Given the description of an element on the screen output the (x, y) to click on. 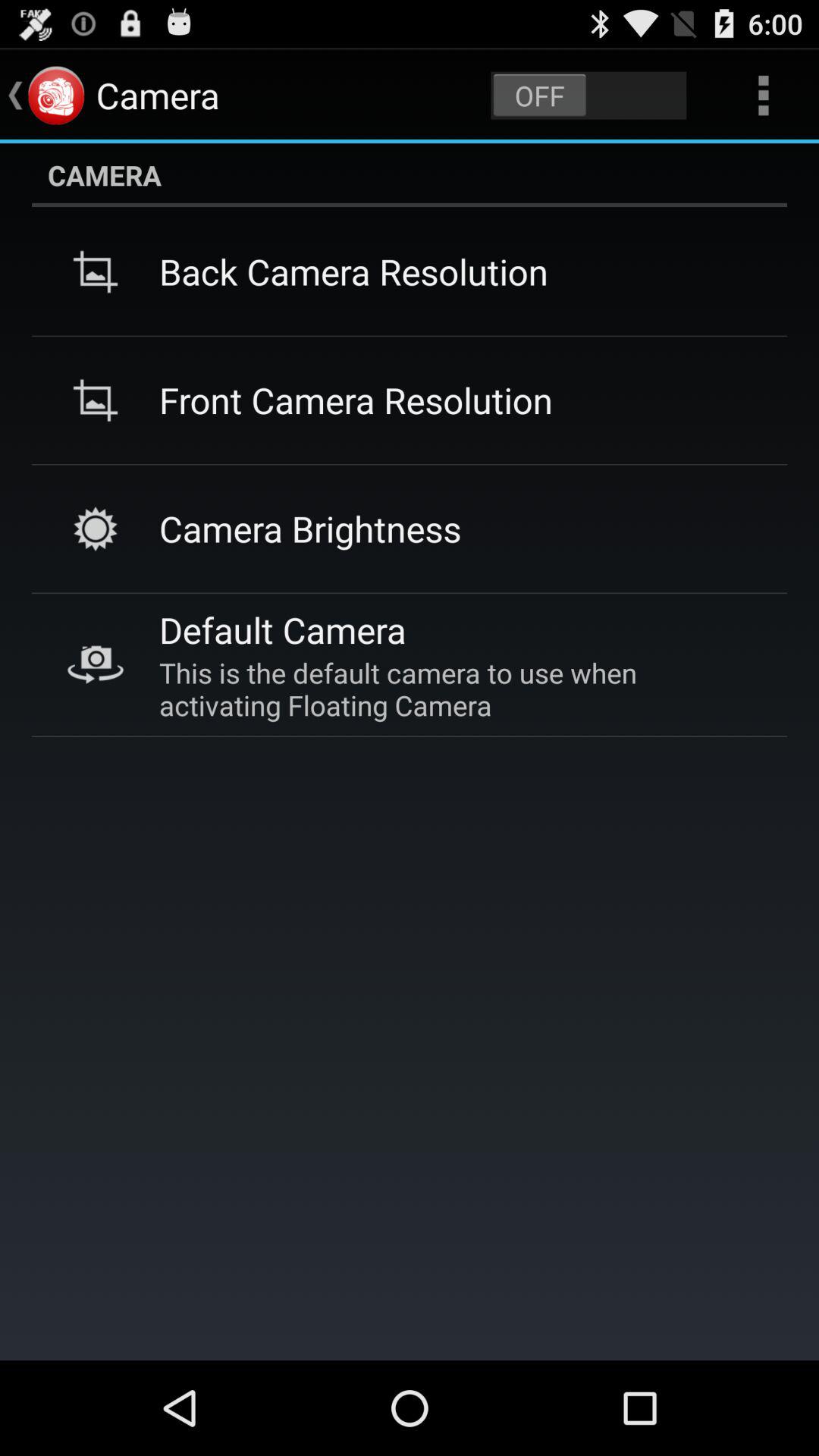
switch on (588, 95)
